Given the description of an element on the screen output the (x, y) to click on. 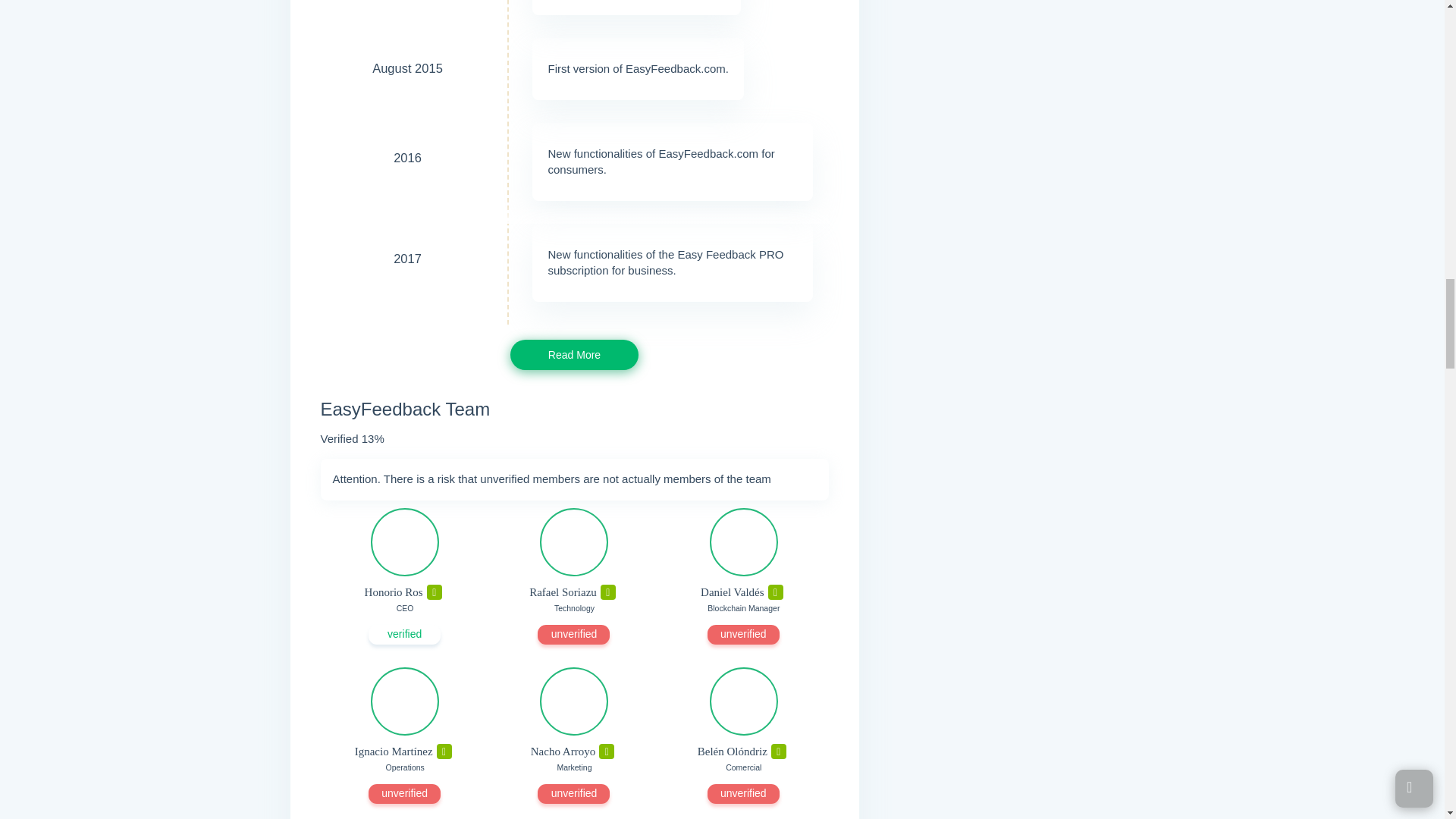
Rafael Soriazu linkedin (607, 591)
Rafael Soriazu (574, 541)
Honorio Ros (394, 592)
Honorio Ros (405, 541)
Honorio Ros linkedin (434, 591)
Rafael Soriazu (562, 592)
Verify yourself as a member of this team (573, 634)
